Given the description of an element on the screen output the (x, y) to click on. 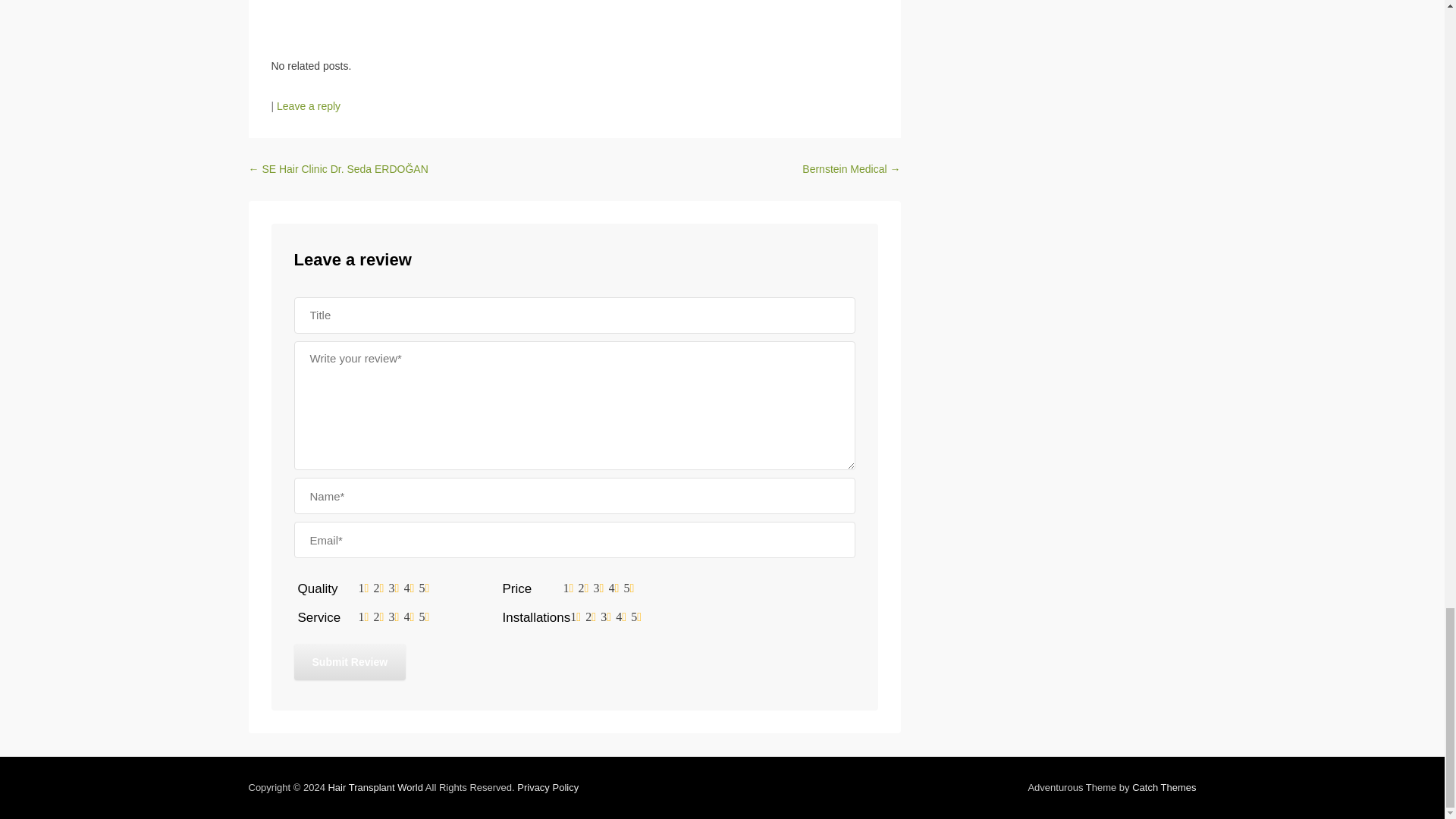
Leave a reply (308, 105)
Submit Review (350, 661)
